Given the description of an element on the screen output the (x, y) to click on. 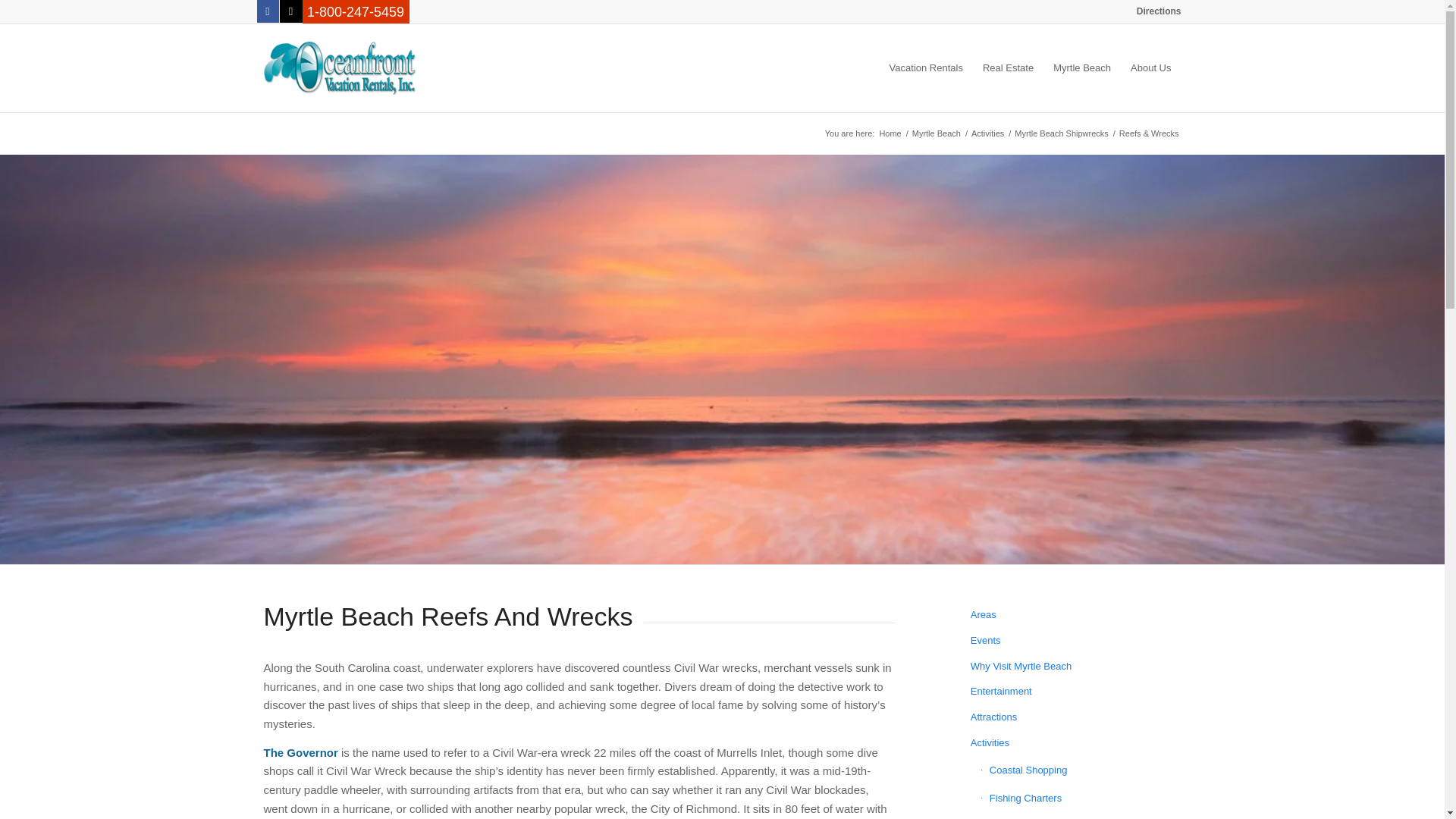
Directions (1158, 11)
Myrtle Beach Shipwrecks (1060, 133)
Vacation Rentals (925, 68)
Oceanfront Vacation Rentals, Inc (889, 133)
Activities (987, 133)
Facebook (267, 11)
Myrtle Beach (936, 133)
Twitter (290, 11)
1-800-247-5459 (355, 11)
